Given the description of an element on the screen output the (x, y) to click on. 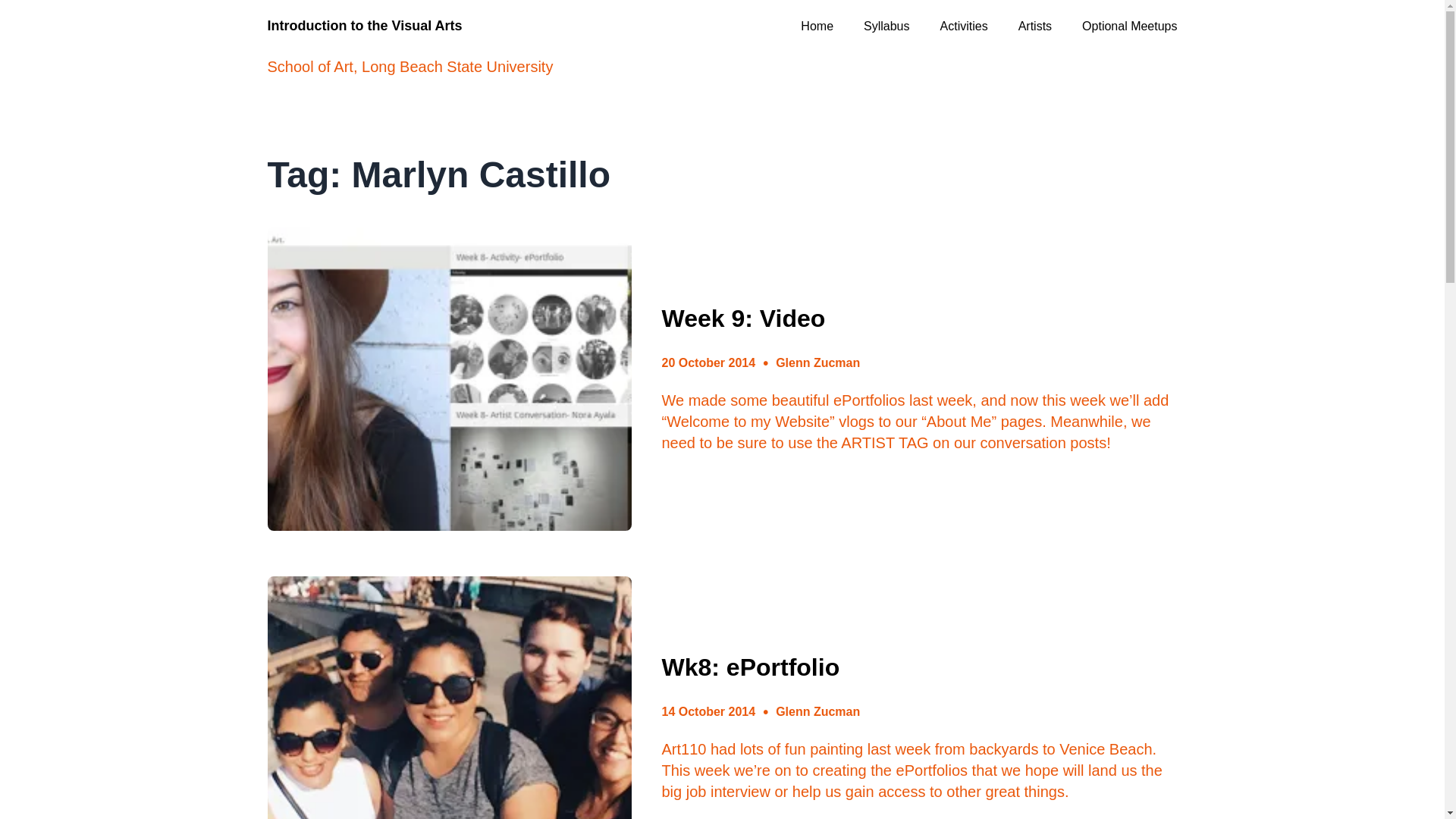
Activities (964, 26)
Optional Meetups (1128, 26)
Home (816, 26)
Introduction to the Visual Arts (363, 25)
Wk8: ePortfolio (750, 666)
Week 9: Video (743, 317)
Artists (1034, 26)
Syllabus (885, 26)
